Given the description of an element on the screen output the (x, y) to click on. 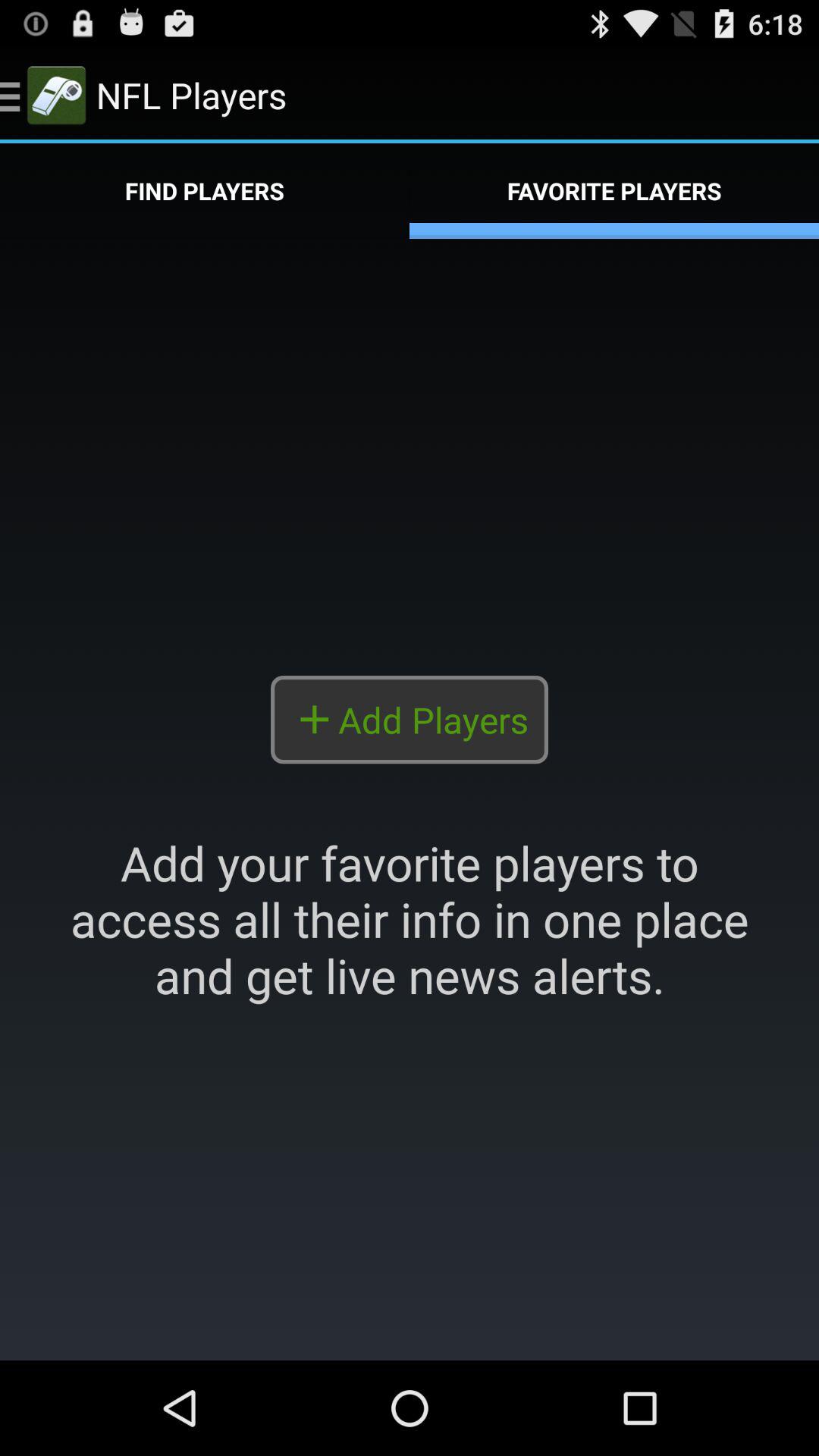
main screen (409, 799)
